Given the description of an element on the screen output the (x, y) to click on. 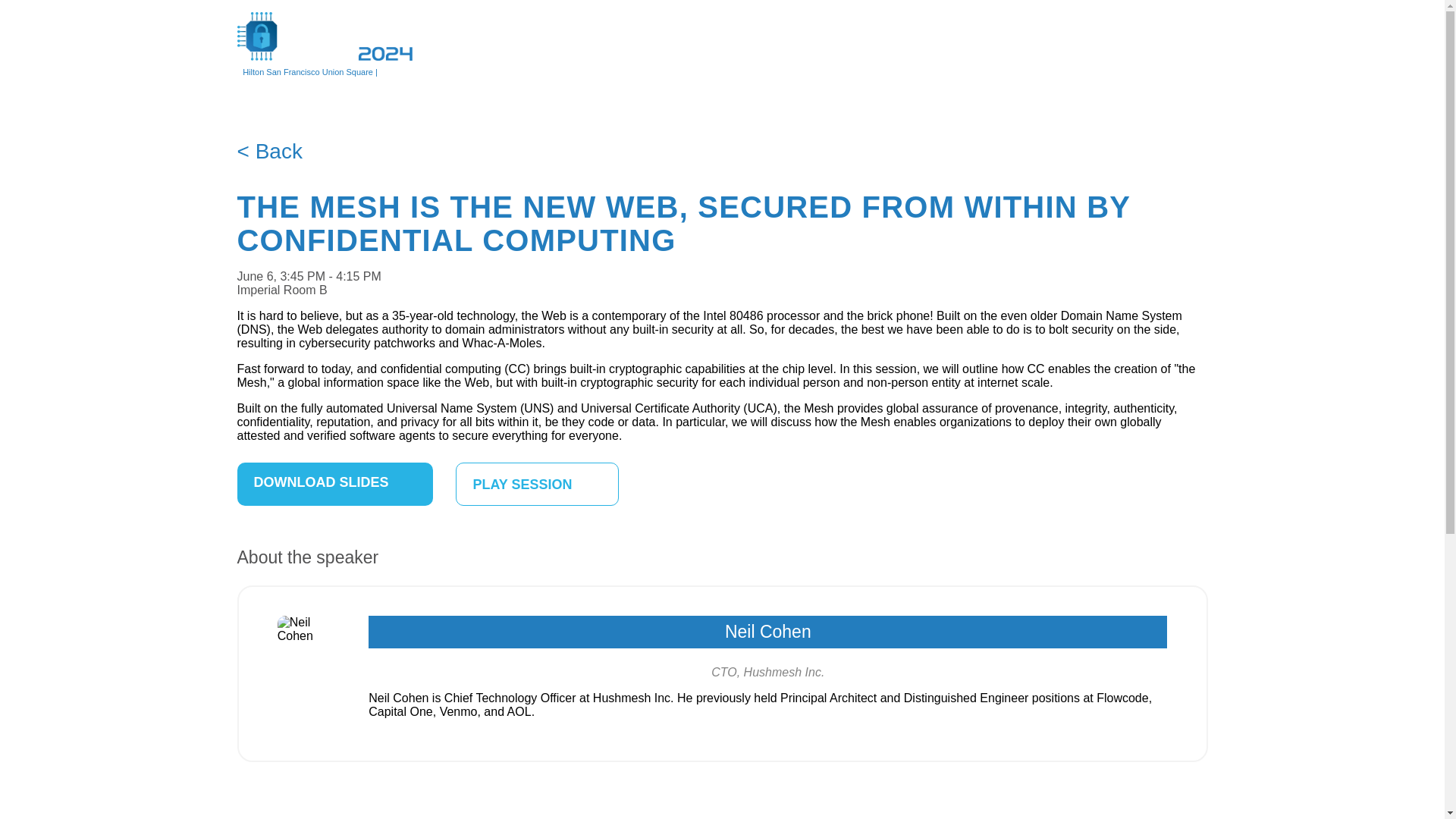
DOWNLOAD SLIDES (333, 484)
Posters (689, 43)
Sponsors (878, 43)
Investors (941, 43)
Interviews (811, 43)
Agenda (635, 43)
Speakers (747, 43)
FAQs (1186, 43)
Program Committee (1030, 43)
Past Events (1126, 43)
